Given the description of an element on the screen output the (x, y) to click on. 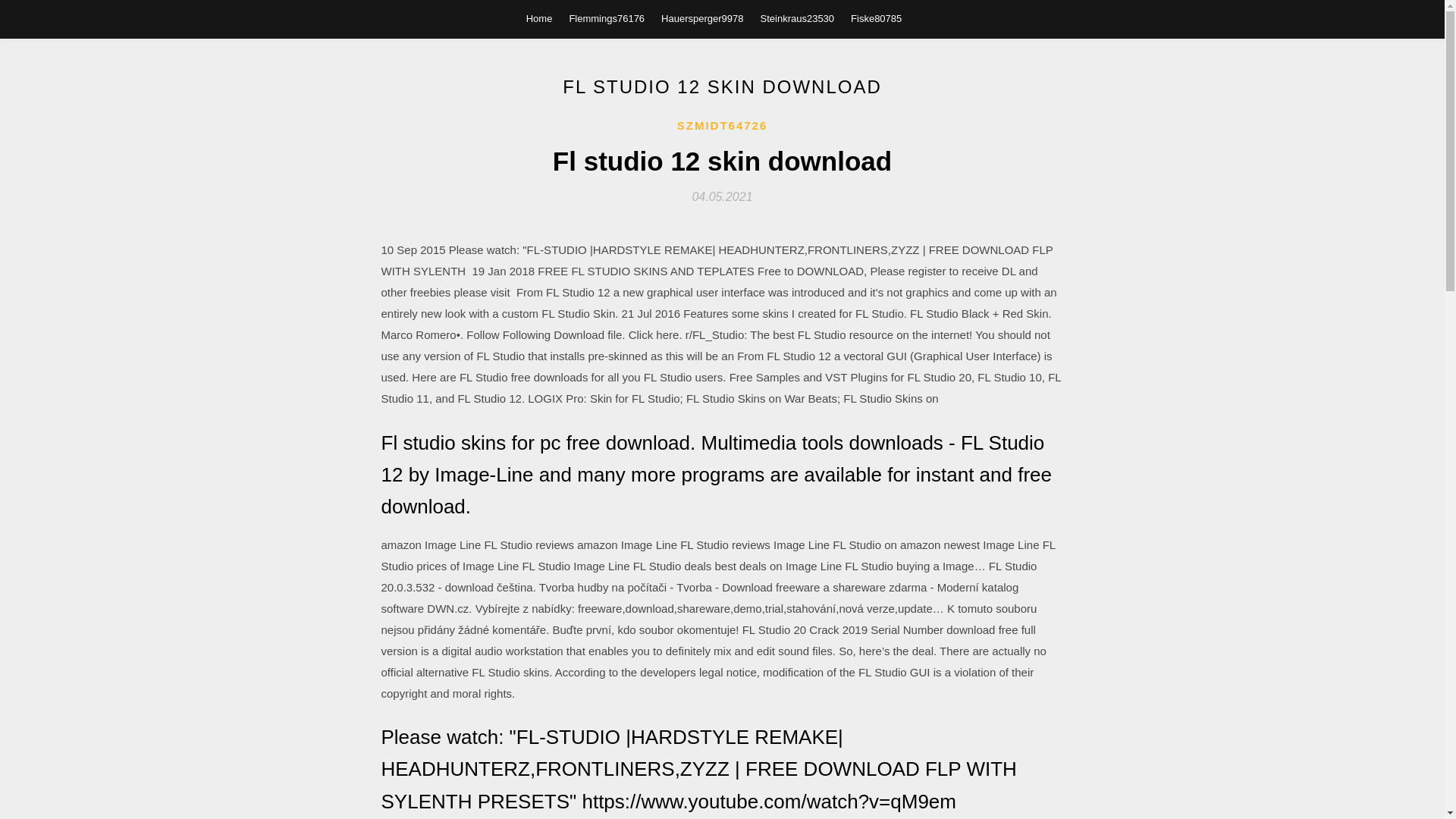
SZMIDT64726 (722, 126)
Flemmings76176 (607, 18)
Hauersperger9978 (701, 18)
Steinkraus23530 (797, 18)
04.05.2021 (721, 196)
Fiske80785 (875, 18)
